Given the description of an element on the screen output the (x, y) to click on. 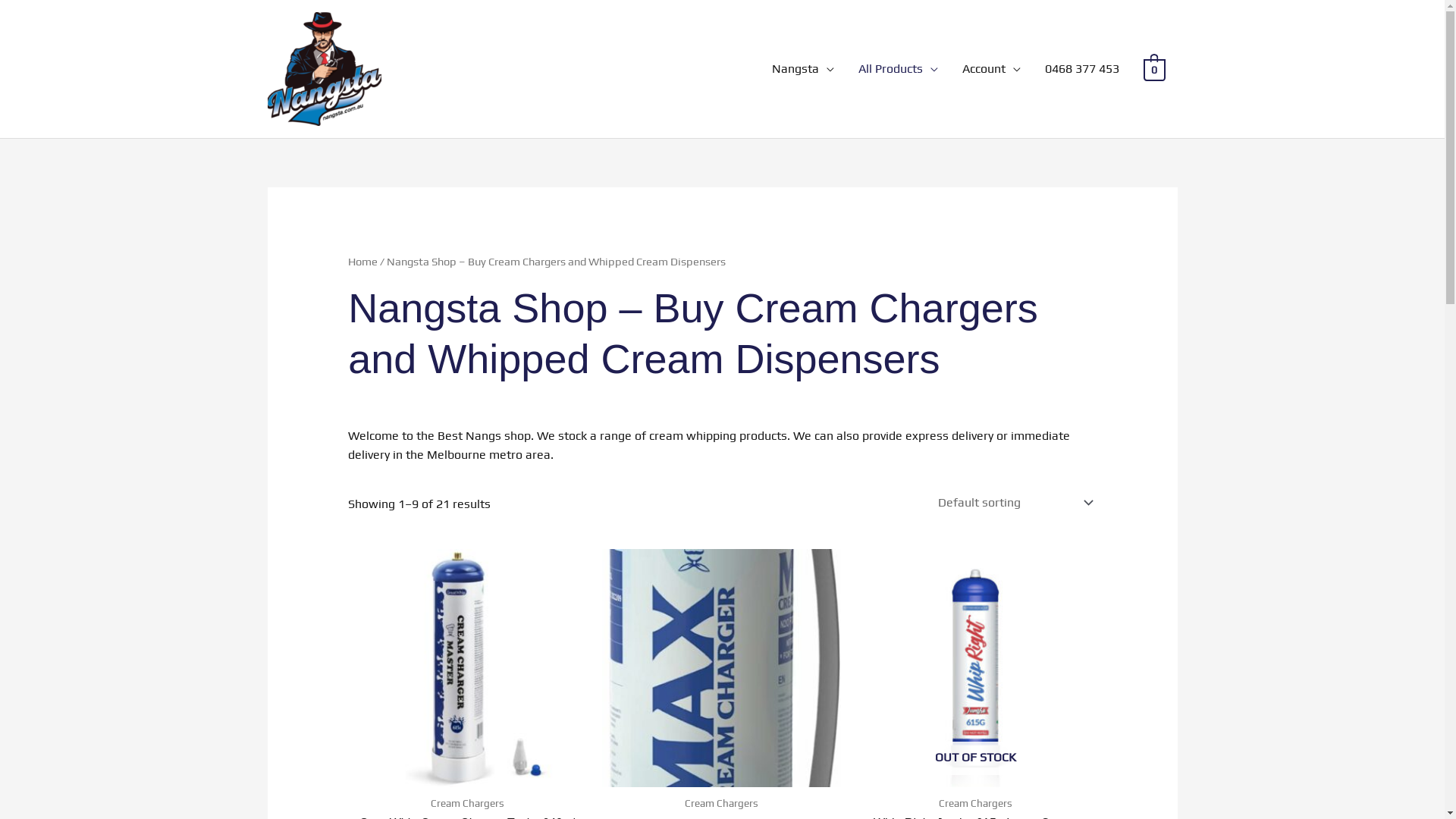
Home Element type: text (362, 260)
Nangsta Element type: text (802, 68)
0468 377 453 Element type: text (1081, 68)
0 Element type: text (1154, 68)
OUT OF STOCK Element type: text (975, 668)
All Products Element type: text (898, 68)
Account Element type: text (991, 68)
